Given the description of an element on the screen output the (x, y) to click on. 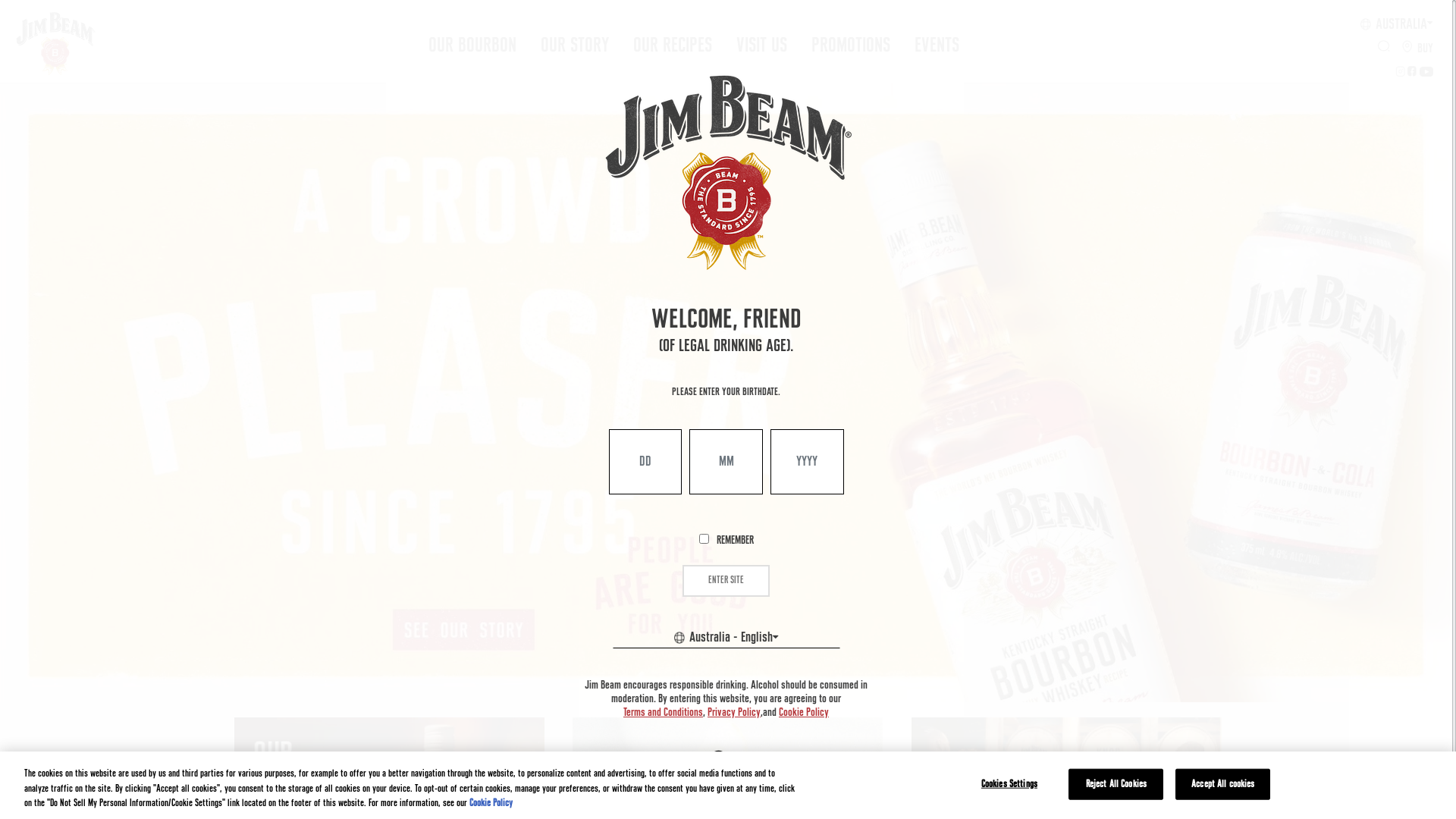
Reject All Cookies Element type: text (1115, 784)
Privacy Policy Element type: text (733, 712)
Age gate remember user checkbox Element type: hover (704, 538)
BUY Element type: text (1417, 48)
 Australia - English Element type: text (726, 637)
PROMOTIONS Element type: text (850, 43)
Facebook link -Jim Beam AU Element type: hover (1413, 71)
Cookies Settings Element type: text (1008, 783)
Instagram Link -Jim Beam AU Element type: hover (1401, 71)
VISIT US Element type: text (761, 43)
OUR BOURBON Element type: text (472, 43)
Home Element type: hover (48, 43)
Cookie Policy Element type: text (490, 803)
 AUSTRALIA Element type: text (1396, 23)
SKIP TO MAIN CONTENT Element type: text (0, 0)
EVENTS Element type: text (936, 43)
ENTER SITE Element type: text (725, 580)
Accept All cookies Element type: text (1222, 784)
OUR STORY Element type: text (574, 43)
Search icon  Element type: hover (1383, 49)
Terms and Conditions Element type: text (662, 712)
Cookie Policy Element type: text (803, 712)
OUR RECIPES Element type: text (672, 43)
